Given the description of an element on the screen output the (x, y) to click on. 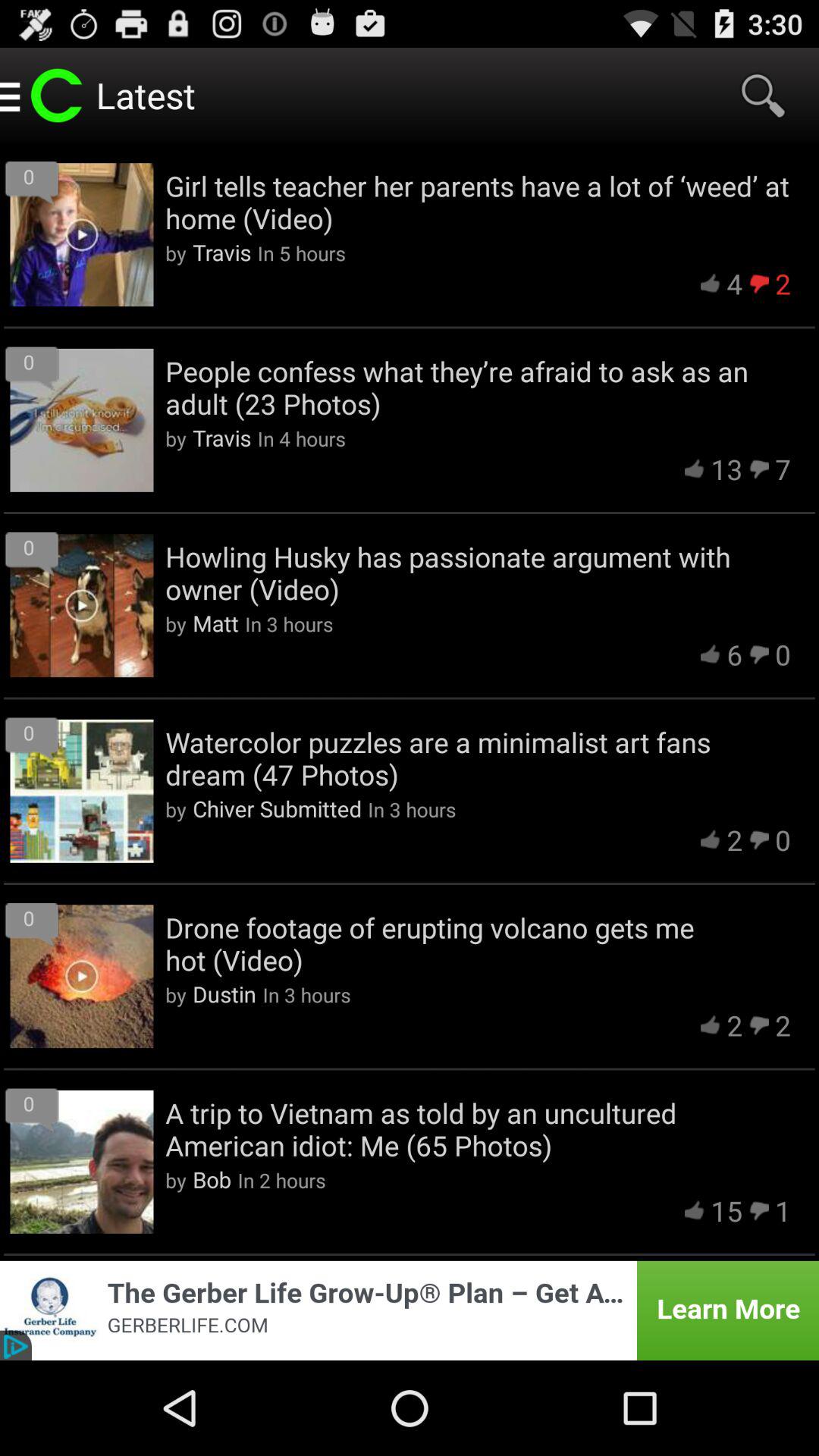
launch 1 icon (783, 1210)
